Given the description of an element on the screen output the (x, y) to click on. 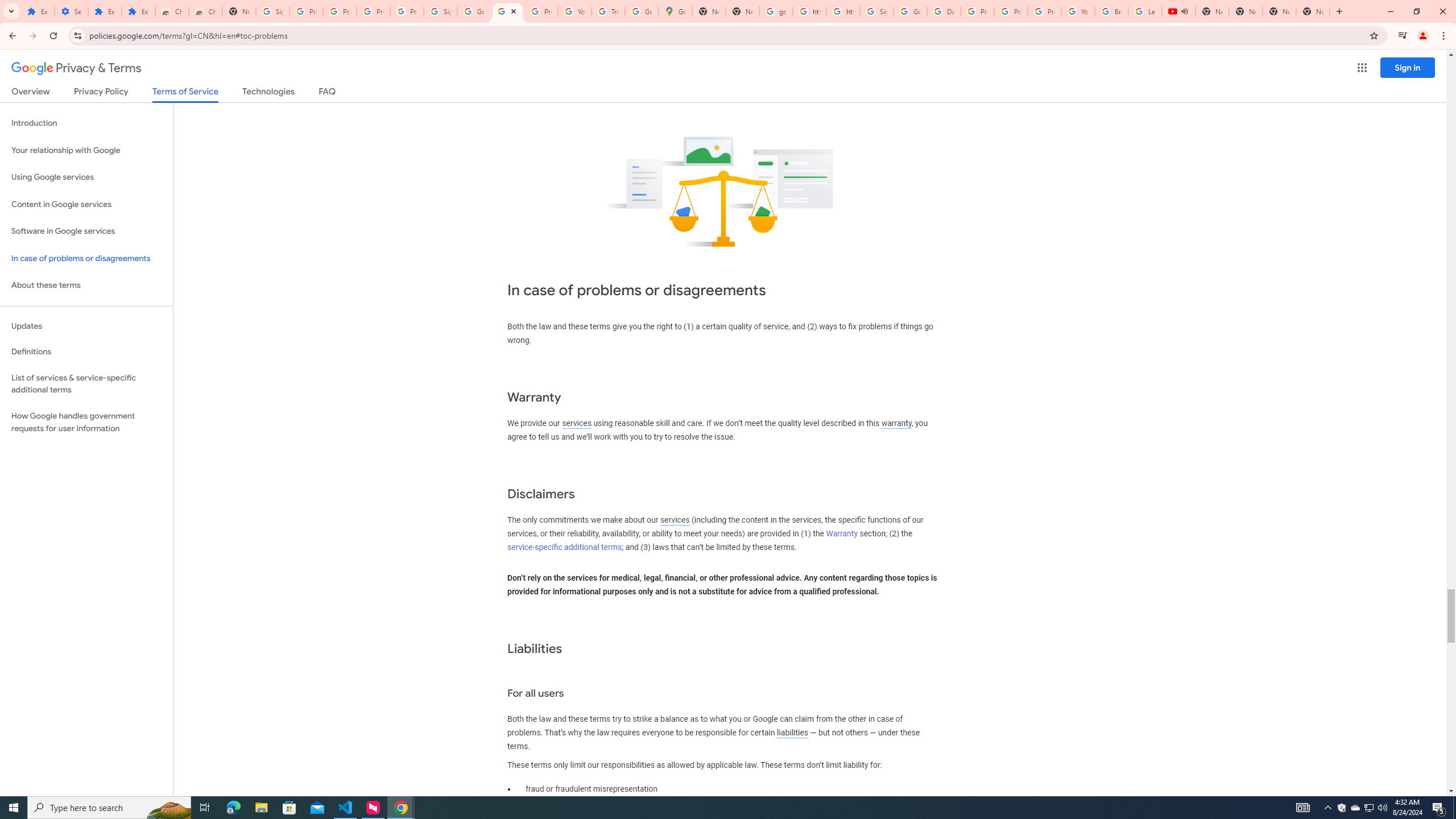
Sign in - Google Accounts (272, 11)
https://scholar.google.com/ (809, 11)
